Given the description of an element on the screen output the (x, y) to click on. 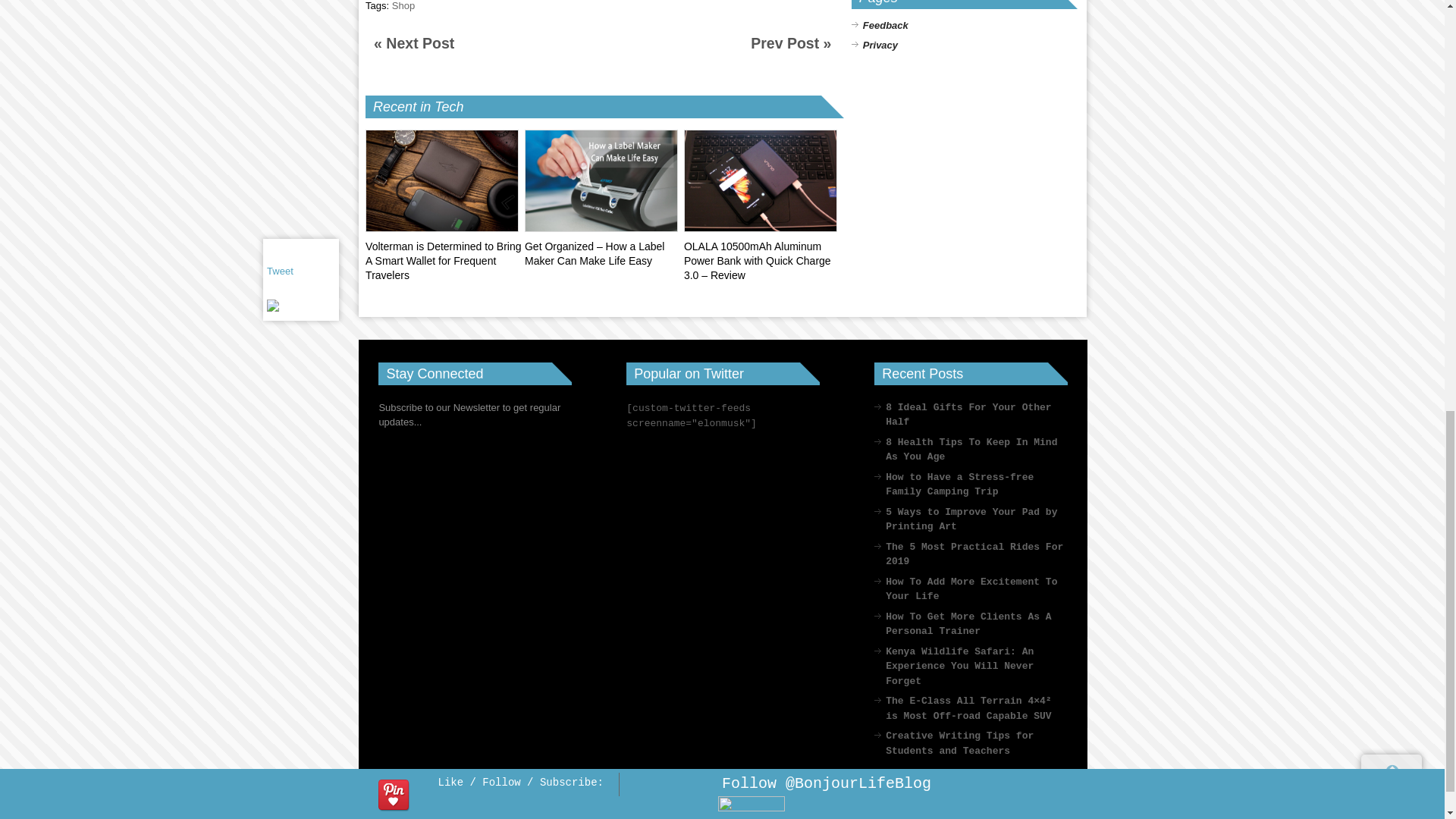
Click here to see all Tech (448, 106)
